Given the description of an element on the screen output the (x, y) to click on. 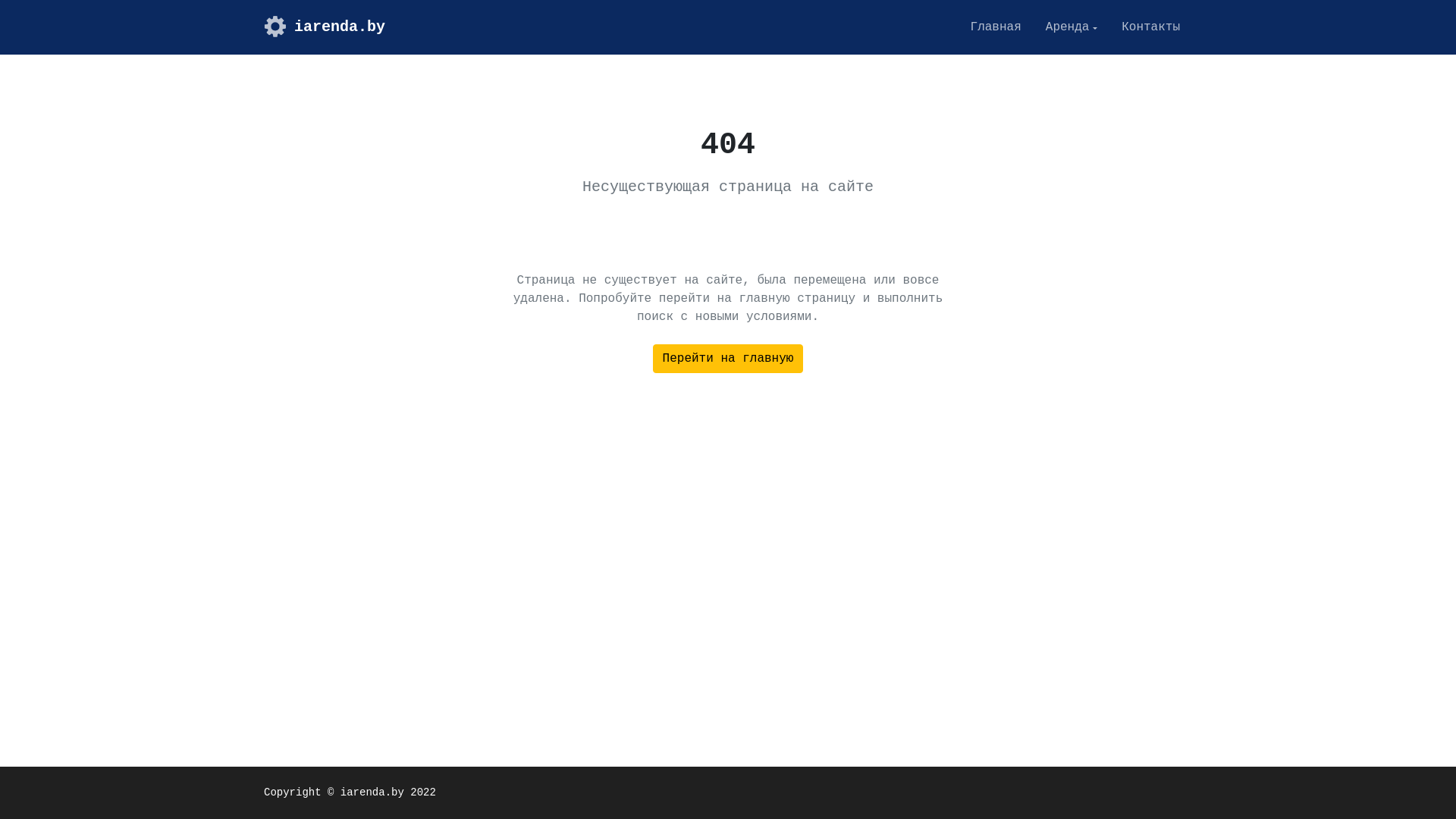
iarenda.by Element type: text (324, 26)
